Given the description of an element on the screen output the (x, y) to click on. 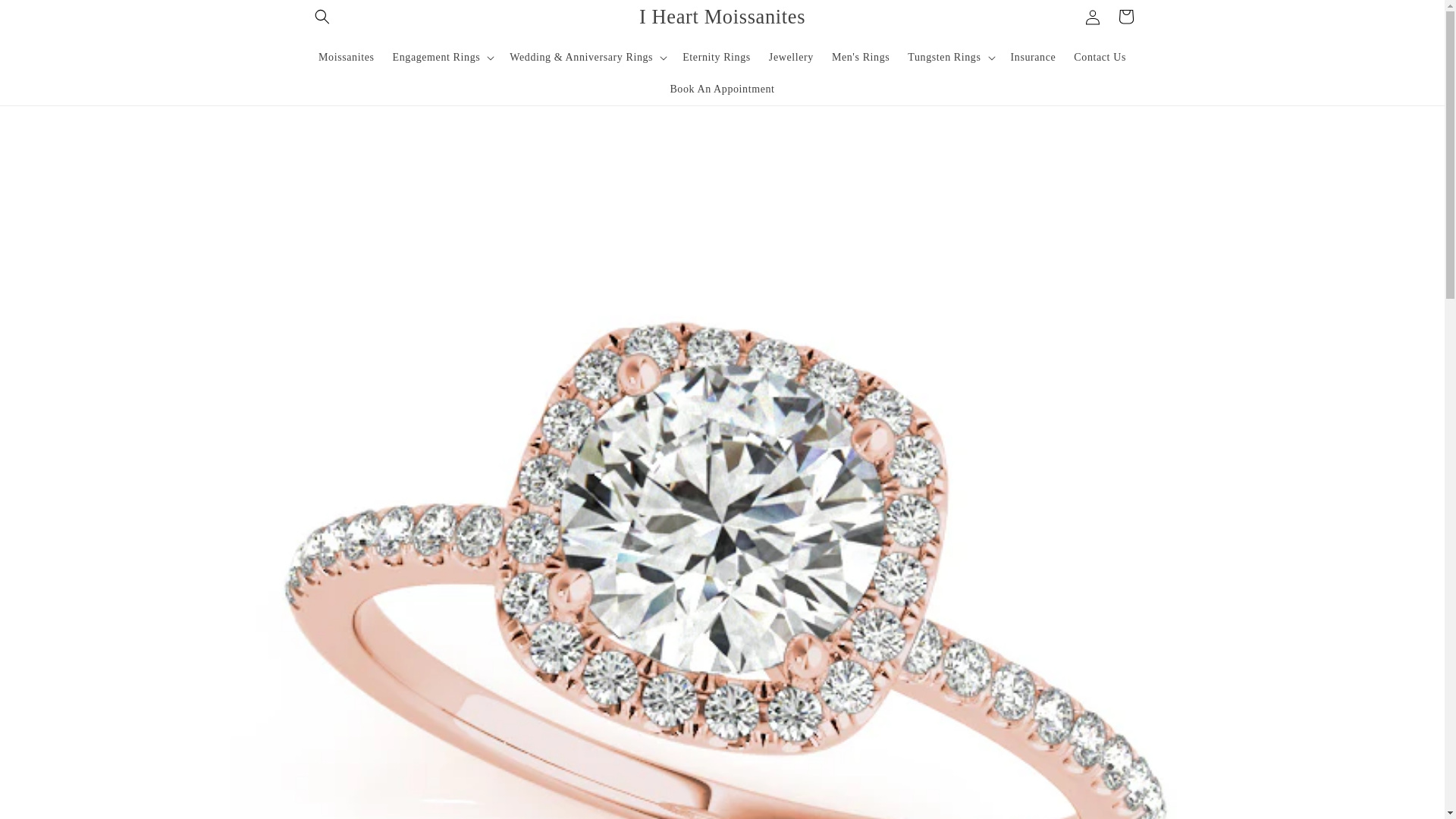
I Heart Moissanites (721, 15)
Moissanites (346, 56)
Skip to content (45, 17)
